Given the description of an element on the screen output the (x, y) to click on. 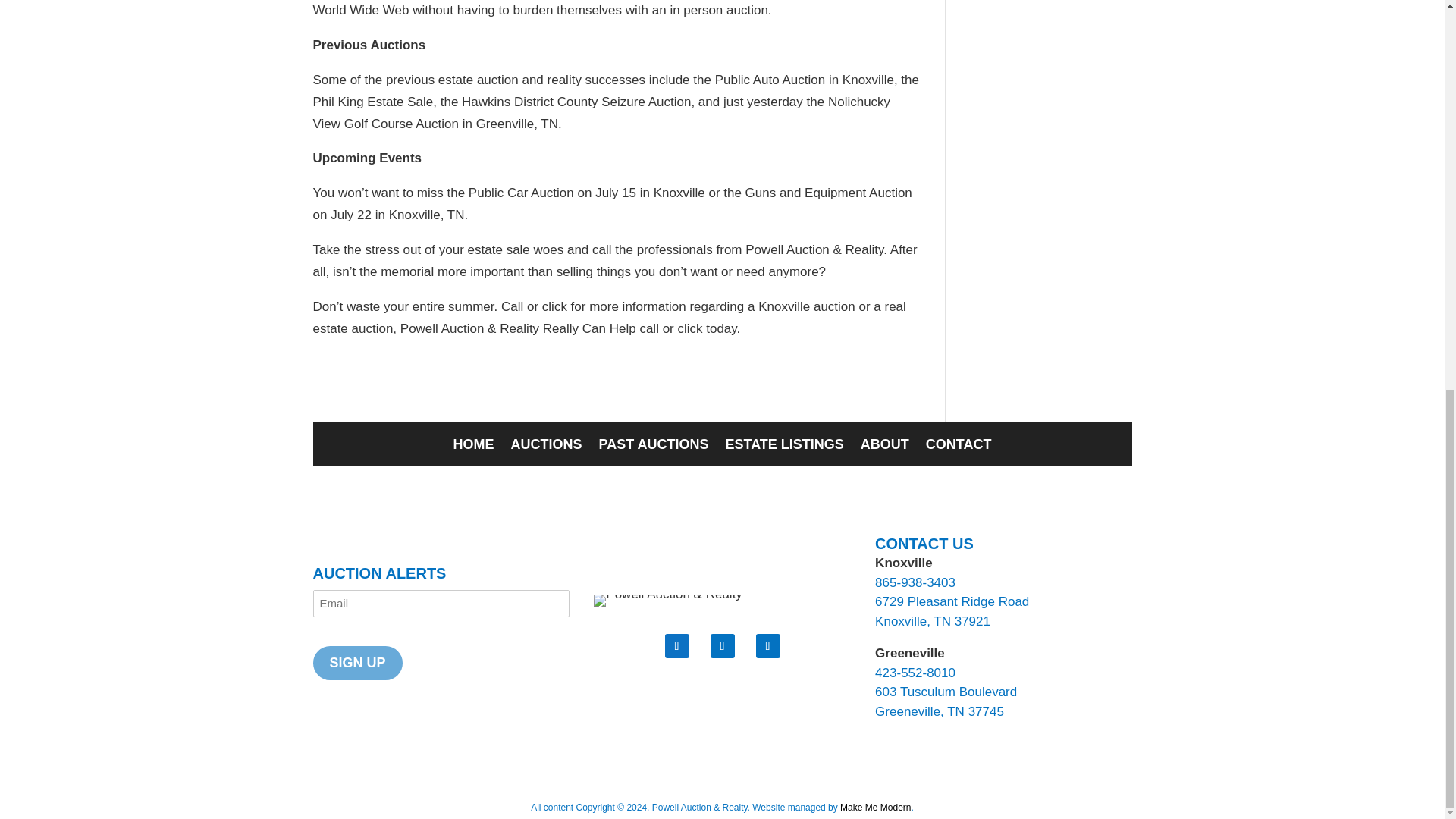
Sign Up (358, 663)
Follow on Twitter (721, 645)
PAST AUCTIONS (652, 446)
865-938-3403 (915, 582)
423-552-8010 (915, 672)
CONTACT (958, 446)
603 Tusculum Boulevard (945, 691)
Knoxville, TN 37921 (932, 621)
Follow on Youtube (766, 645)
ABOUT (884, 446)
